Given the description of an element on the screen output the (x, y) to click on. 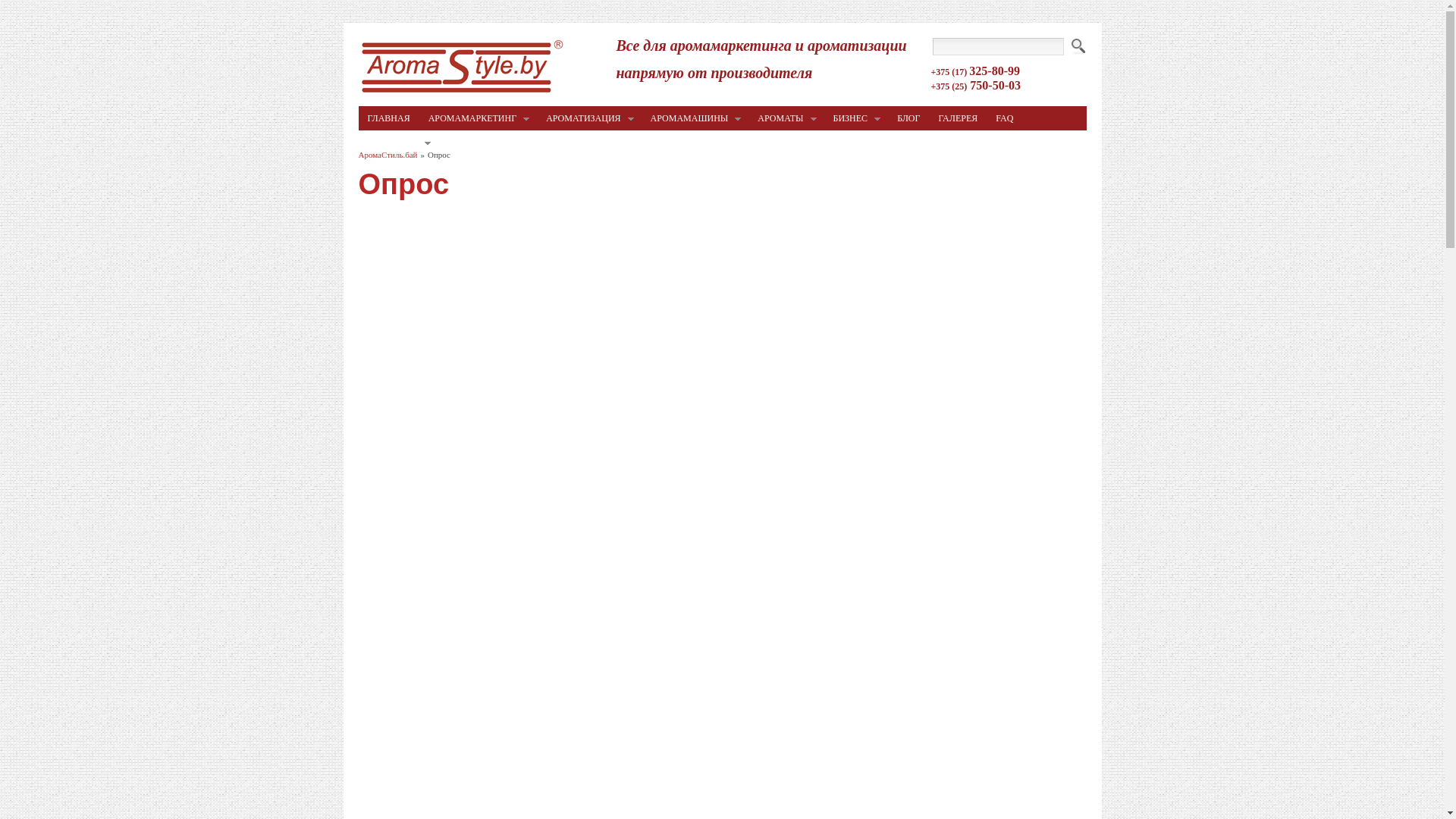
FAQ Element type: text (1004, 118)
